Given the description of an element on the screen output the (x, y) to click on. 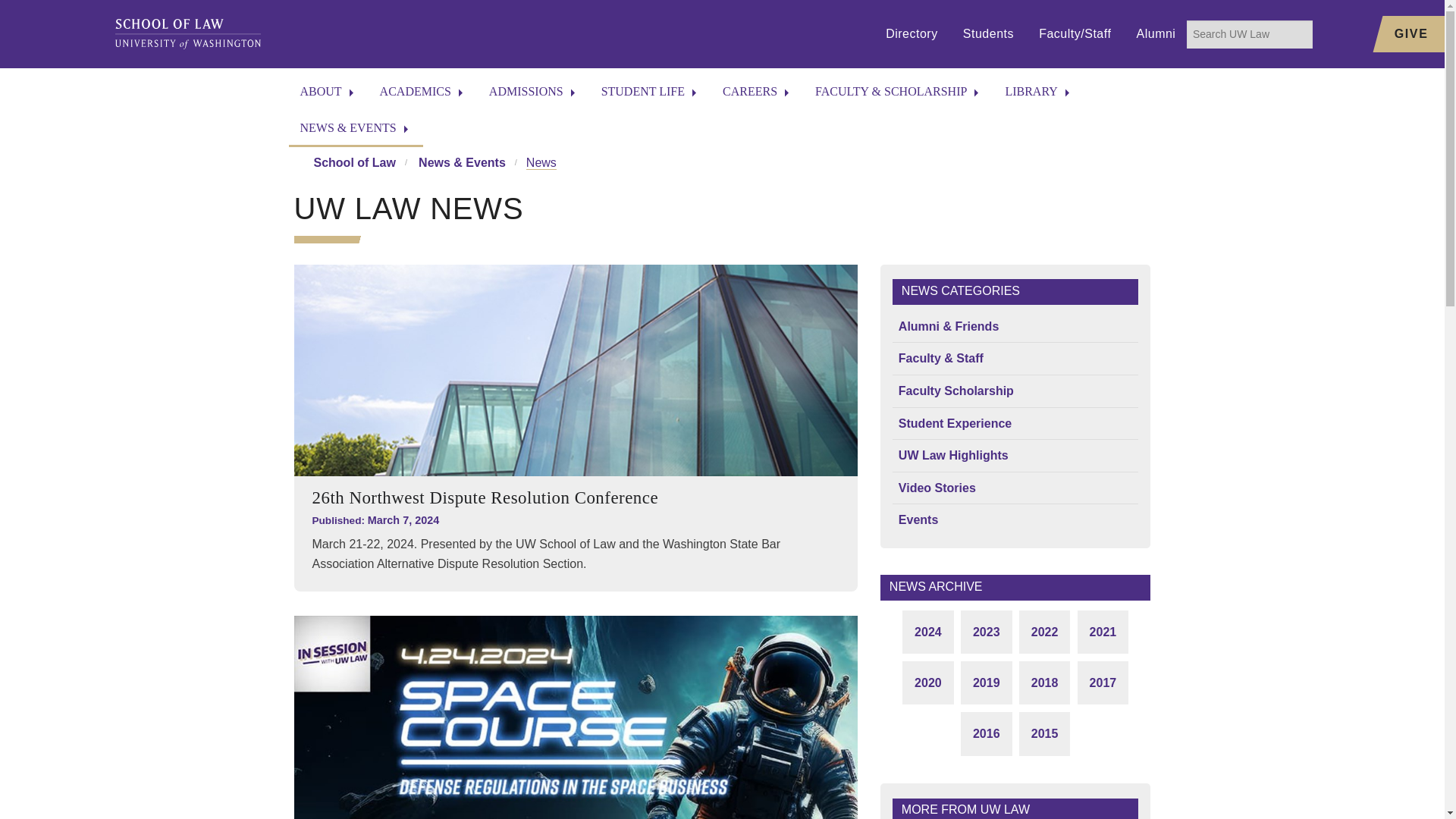
LL.M. Programs (422, 168)
Student Journals (422, 377)
William H. Gates Hall (327, 168)
M.J. Program (422, 203)
Alumni (1156, 34)
search (1249, 33)
Experiential Learning (422, 273)
Diversity, Equity and Inclusion (327, 342)
William H. Gates Hall Art Display Policy (327, 377)
Calendar (327, 308)
History (327, 133)
M.J. Admissions (533, 203)
ACADEMICS (422, 92)
Faculty and Staff Directory (327, 203)
ABOUT (328, 92)
